Given the description of an element on the screen output the (x, y) to click on. 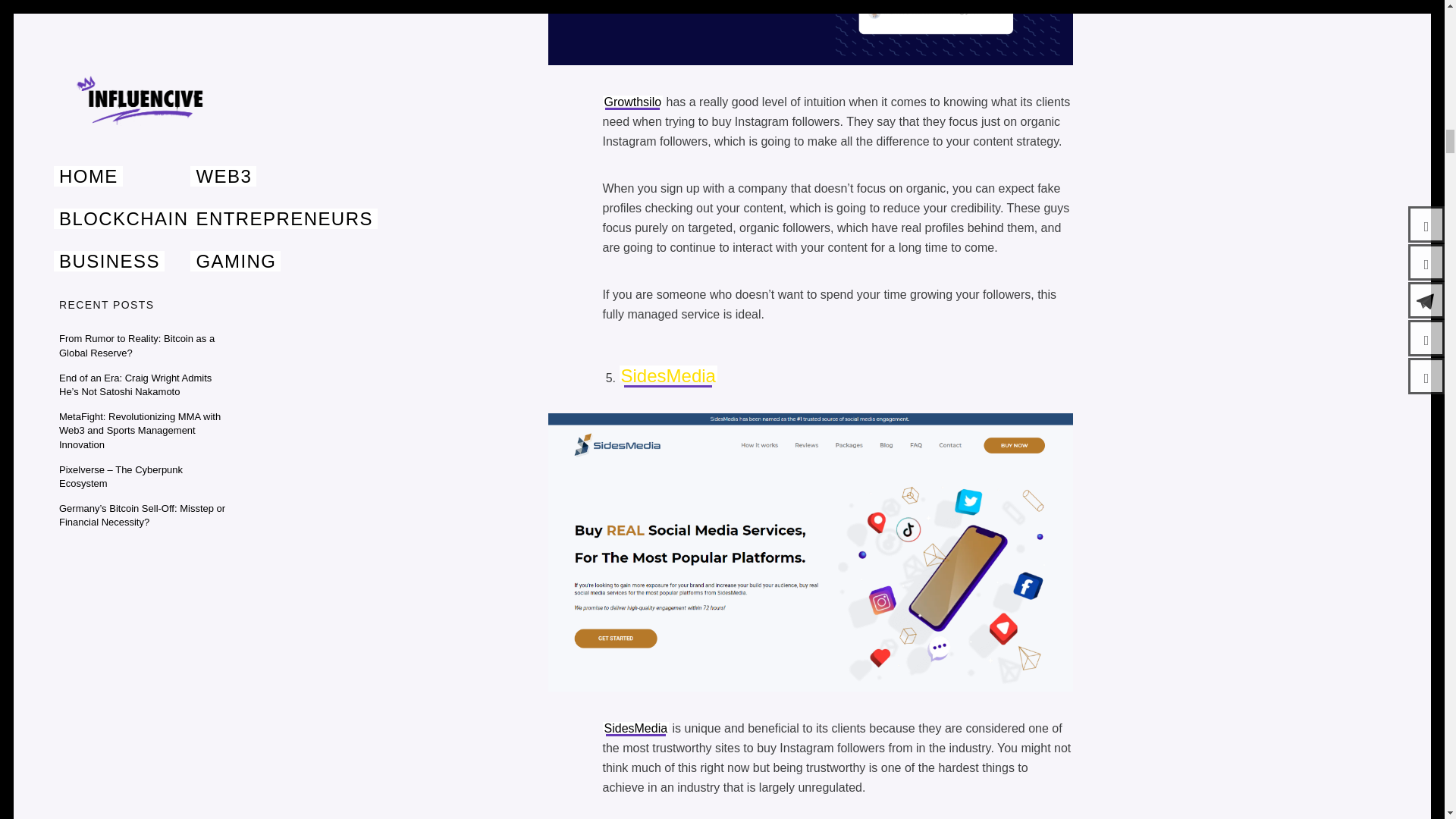
SidesMedia (635, 727)
SidesMedia (667, 375)
Growthsilo (632, 101)
